Given the description of an element on the screen output the (x, y) to click on. 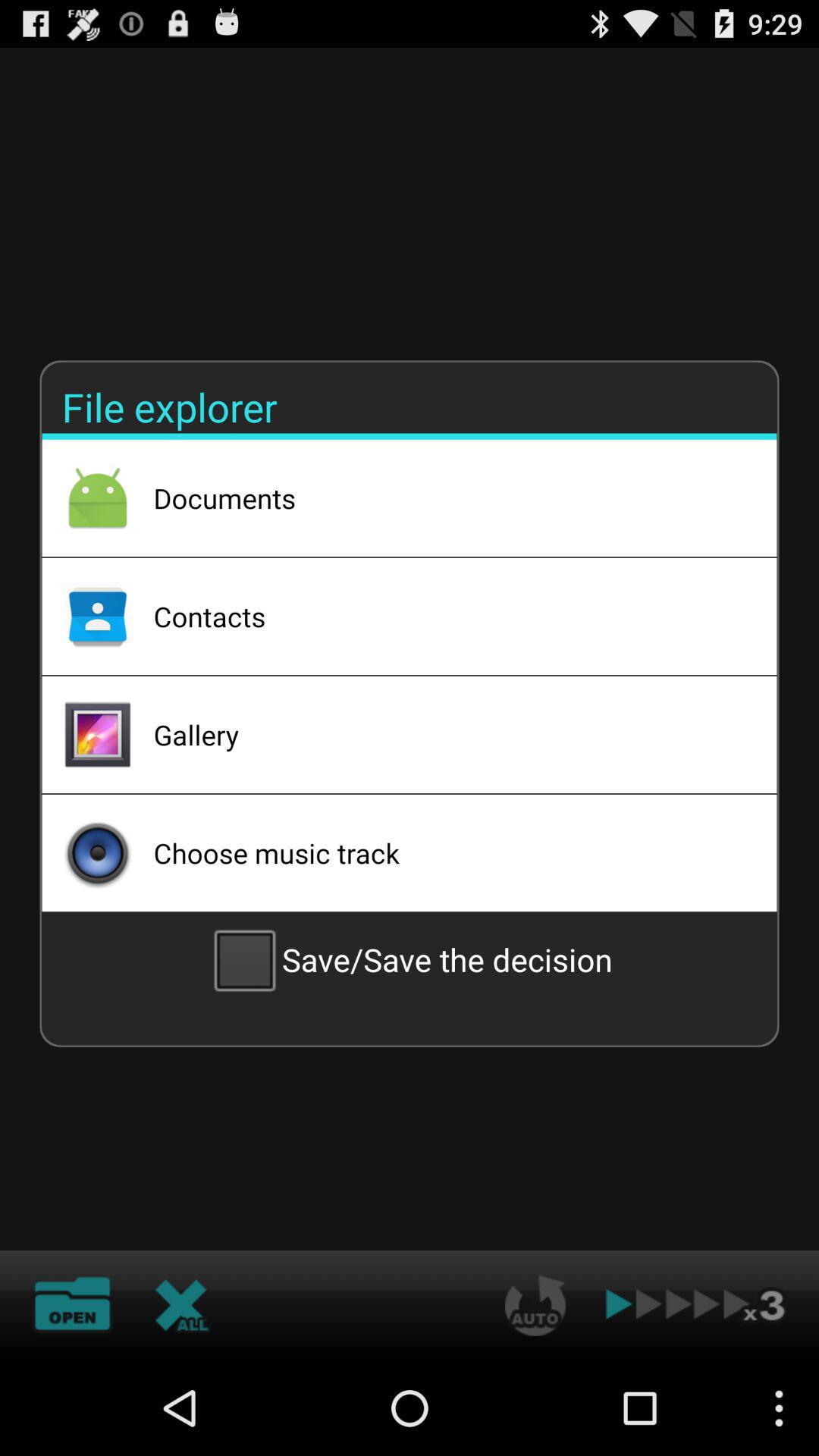
launch the icon above choose music track app (445, 734)
